Given the description of an element on the screen output the (x, y) to click on. 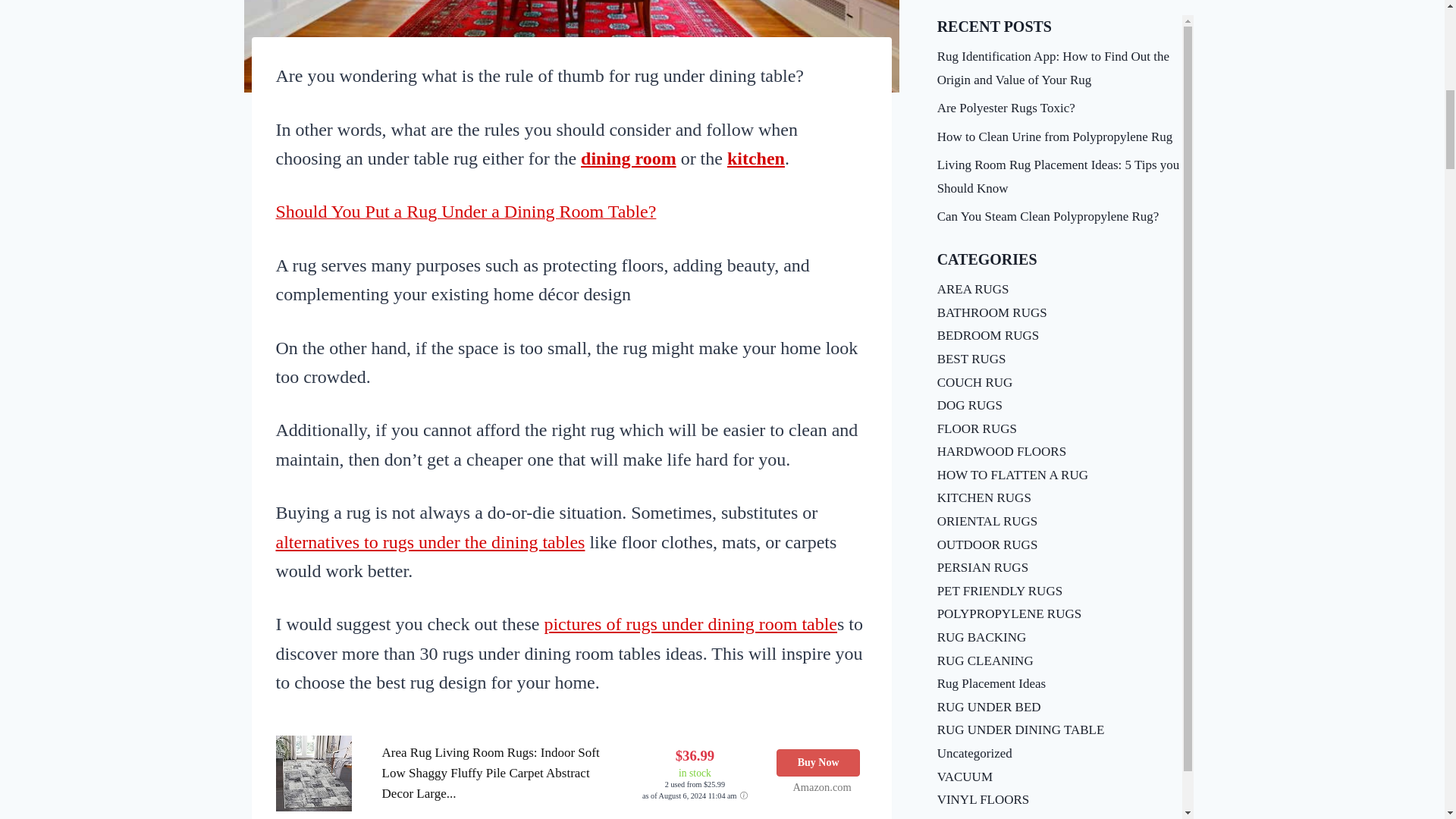
Buy Now (818, 762)
pictures of rugs under dining room table (690, 623)
Should You Put a Rug Under a Dining Room Table? (466, 213)
Should You Put a Rug Under a Dining Room Table? (466, 213)
kitchen (755, 158)
dining room (628, 158)
alternatives to rugs under the dining tables (430, 542)
kitchen (755, 158)
dining room (628, 158)
